Given the description of an element on the screen output the (x, y) to click on. 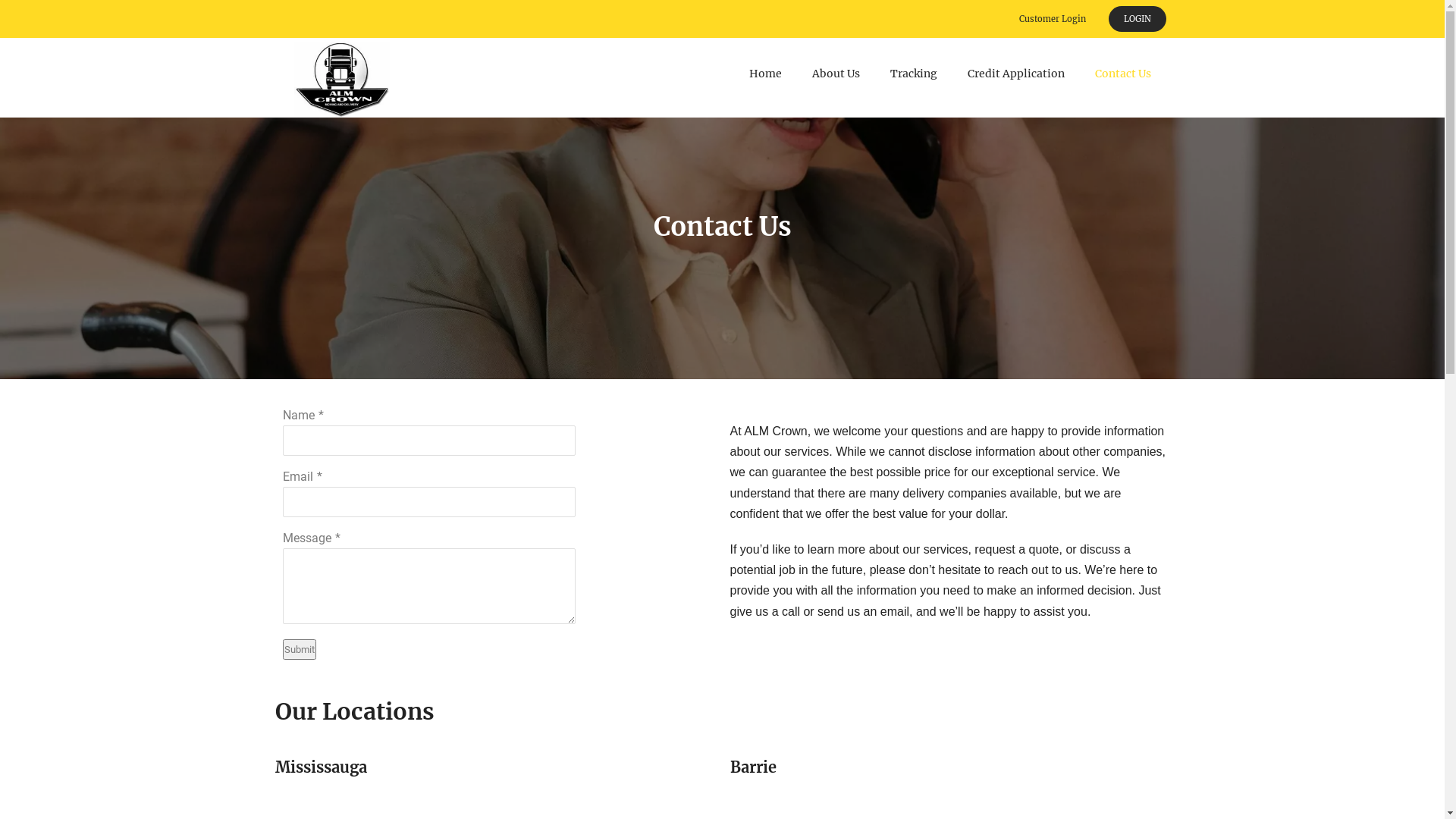
Credit Application Element type: text (1015, 73)
Contact Us Element type: text (1122, 73)
LOGIN Element type: text (1137, 18)
Submit Element type: text (298, 649)
About Us Element type: text (835, 73)
ALM Crown Element type: hover (341, 79)
Tracking Element type: text (913, 73)
Home Element type: text (765, 73)
